Given the description of an element on the screen output the (x, y) to click on. 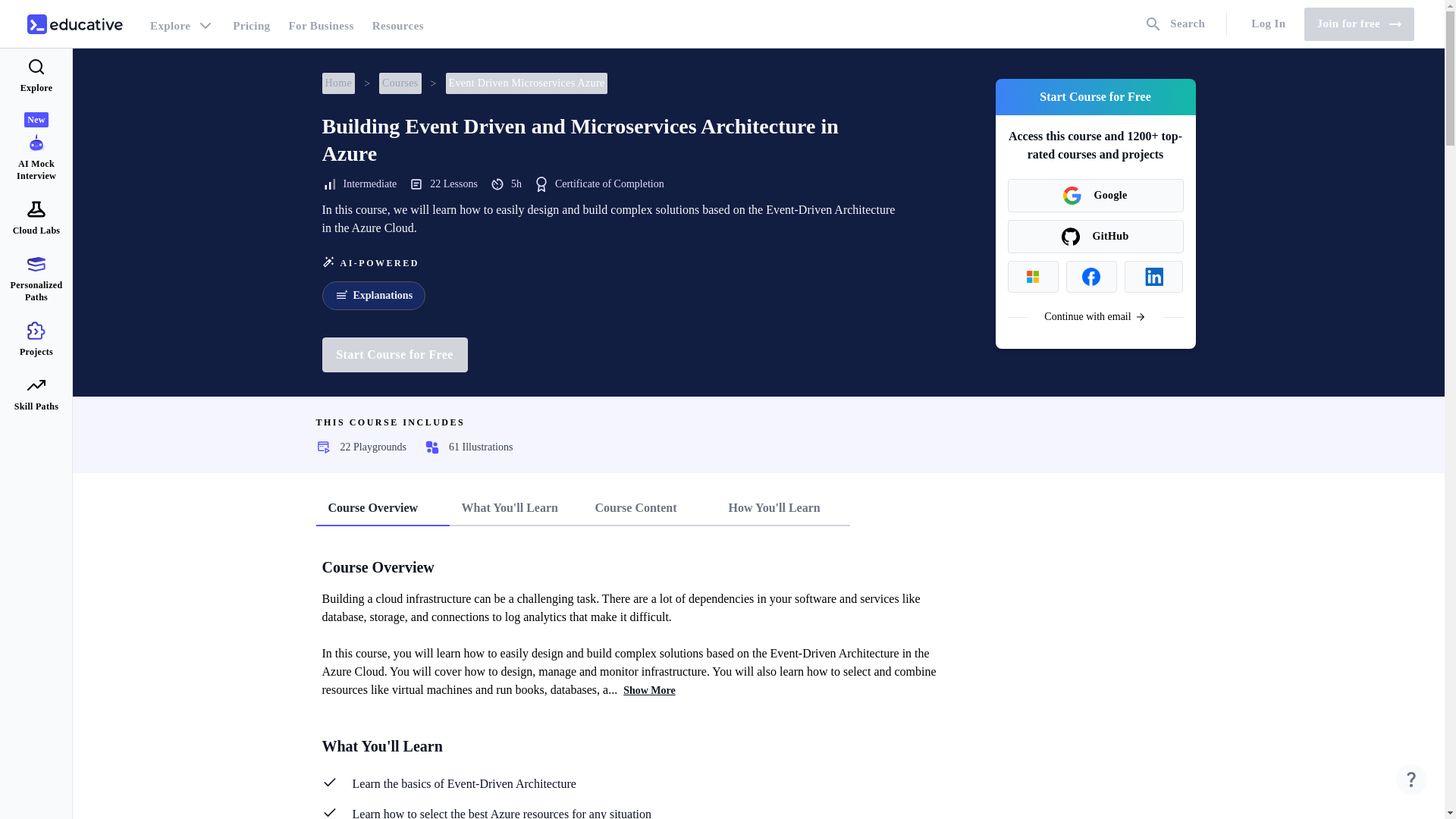
Skill Paths (36, 393)
Personalized Paths (36, 278)
Resources (397, 23)
Search (1174, 23)
Log In (1268, 23)
Pricing (251, 23)
Explore (36, 75)
Explore (182, 23)
Home (338, 83)
Skill Paths (36, 393)
Cloud Labs (36, 217)
Personalized Paths (36, 278)
Explore (36, 75)
Projects (36, 339)
Cloud Labs (36, 217)
